Given the description of an element on the screen output the (x, y) to click on. 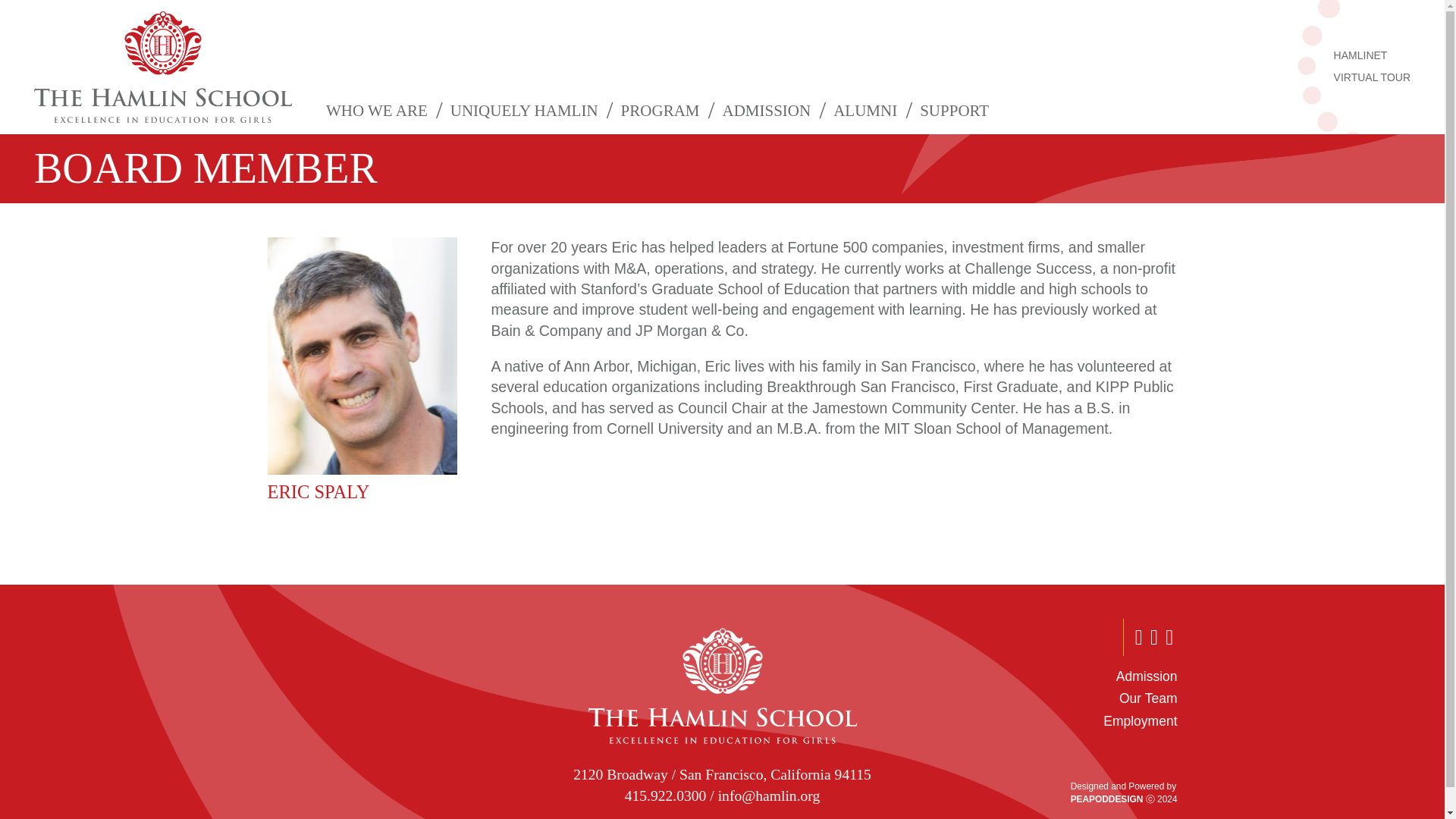
ADMISSION (766, 111)
WHO WE ARE (376, 111)
ALUMNI (865, 111)
SUPPORT (954, 111)
PROGRAM (660, 111)
UNIQUELY HAMLIN (524, 111)
HAMLINET (1371, 55)
VIRTUAL TOUR (1371, 77)
